Given the description of an element on the screen output the (x, y) to click on. 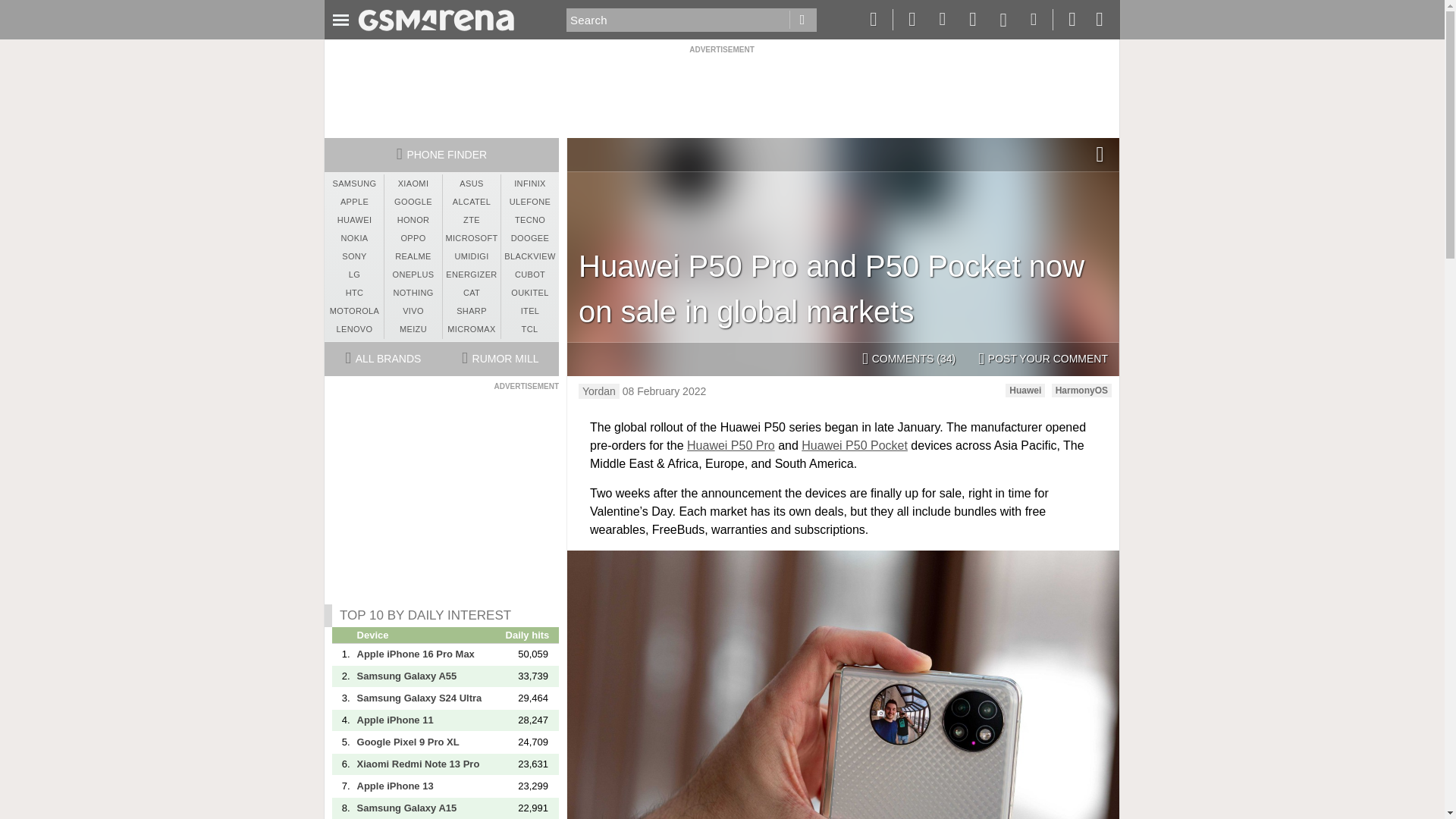
Huawei P50 Pocket (854, 445)
Go (802, 19)
Go (802, 19)
Huawei (1025, 390)
POST YOUR COMMENT (1042, 359)
Yordan (599, 391)
Huawei P50 Pro (730, 445)
HarmonyOS (1081, 390)
